Given the description of an element on the screen output the (x, y) to click on. 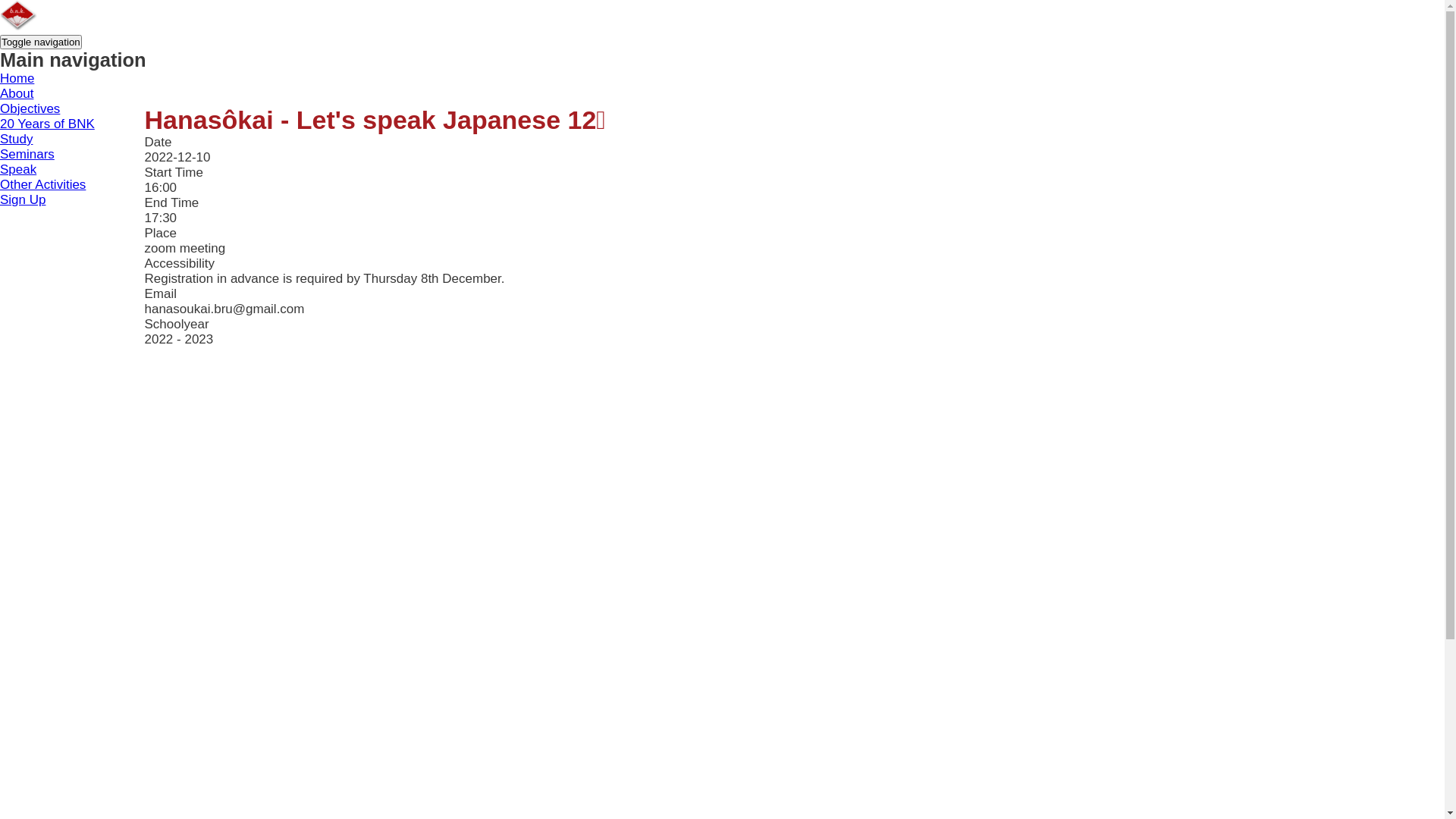
Home Element type: hover (18, 25)
Study Element type: text (16, 138)
Speak Element type: text (18, 169)
Home Element type: text (17, 78)
Seminars Element type: text (27, 154)
Other Activities Element type: text (42, 184)
Objectives Element type: text (29, 108)
Skip to main content Element type: text (0, 0)
About Element type: text (16, 93)
20 Years of BNK Element type: text (47, 123)
Toggle navigation Element type: text (40, 41)
Sign Up Element type: text (22, 199)
